Given the description of an element on the screen output the (x, y) to click on. 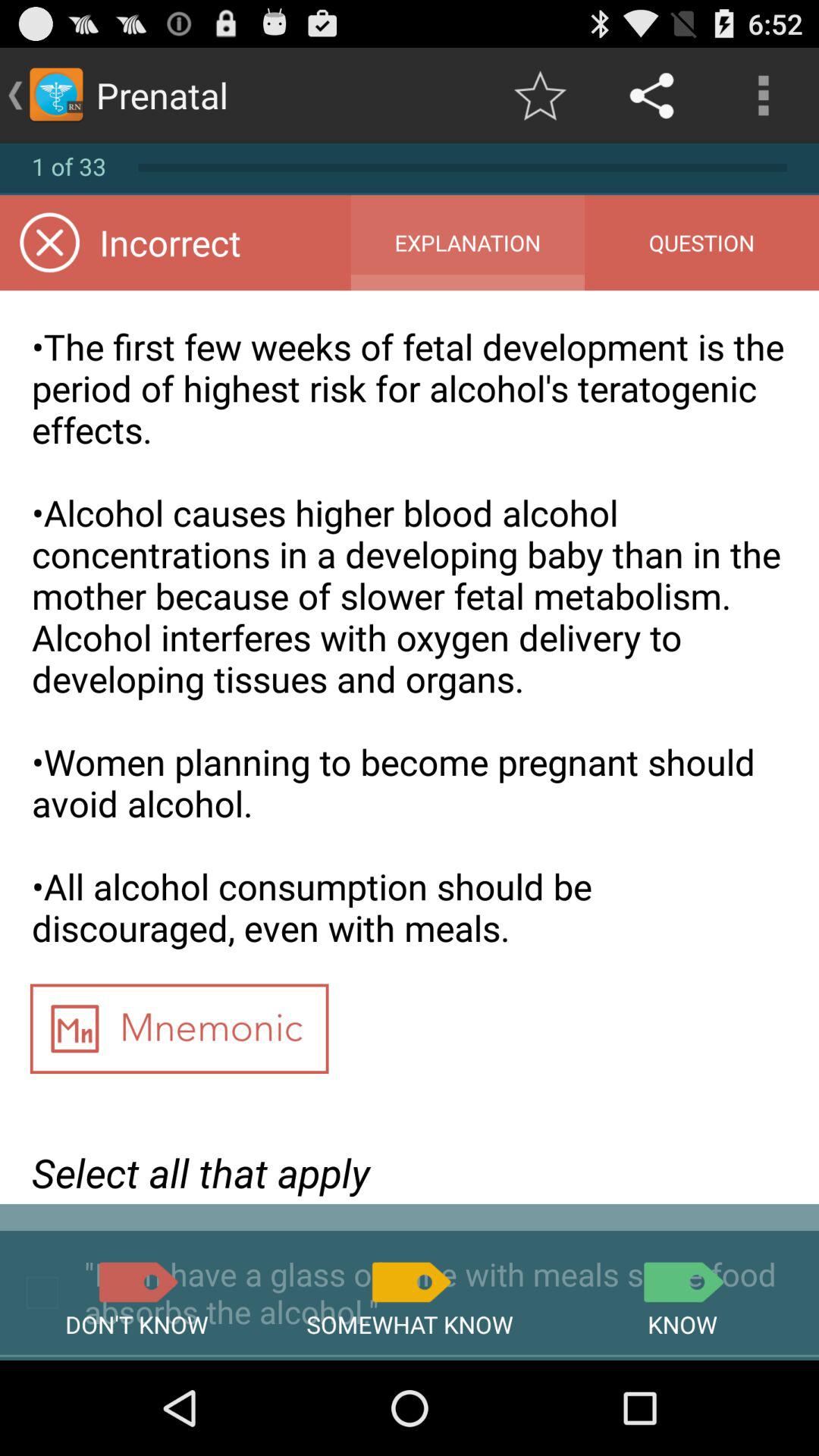
go to mnemonic (179, 1033)
